Given the description of an element on the screen output the (x, y) to click on. 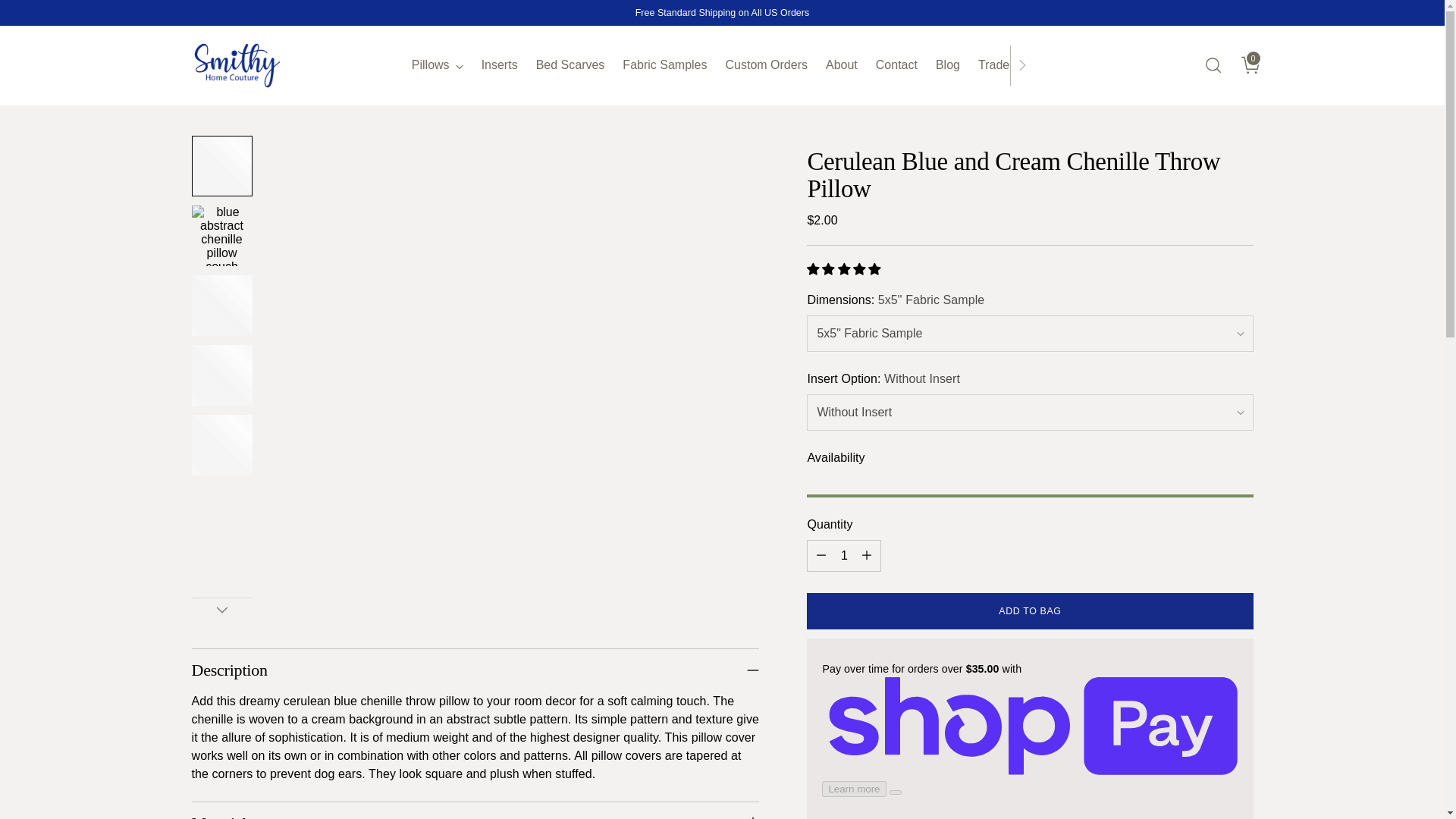
1 (843, 555)
Pillows (437, 64)
Down (220, 609)
